Given the description of an element on the screen output the (x, y) to click on. 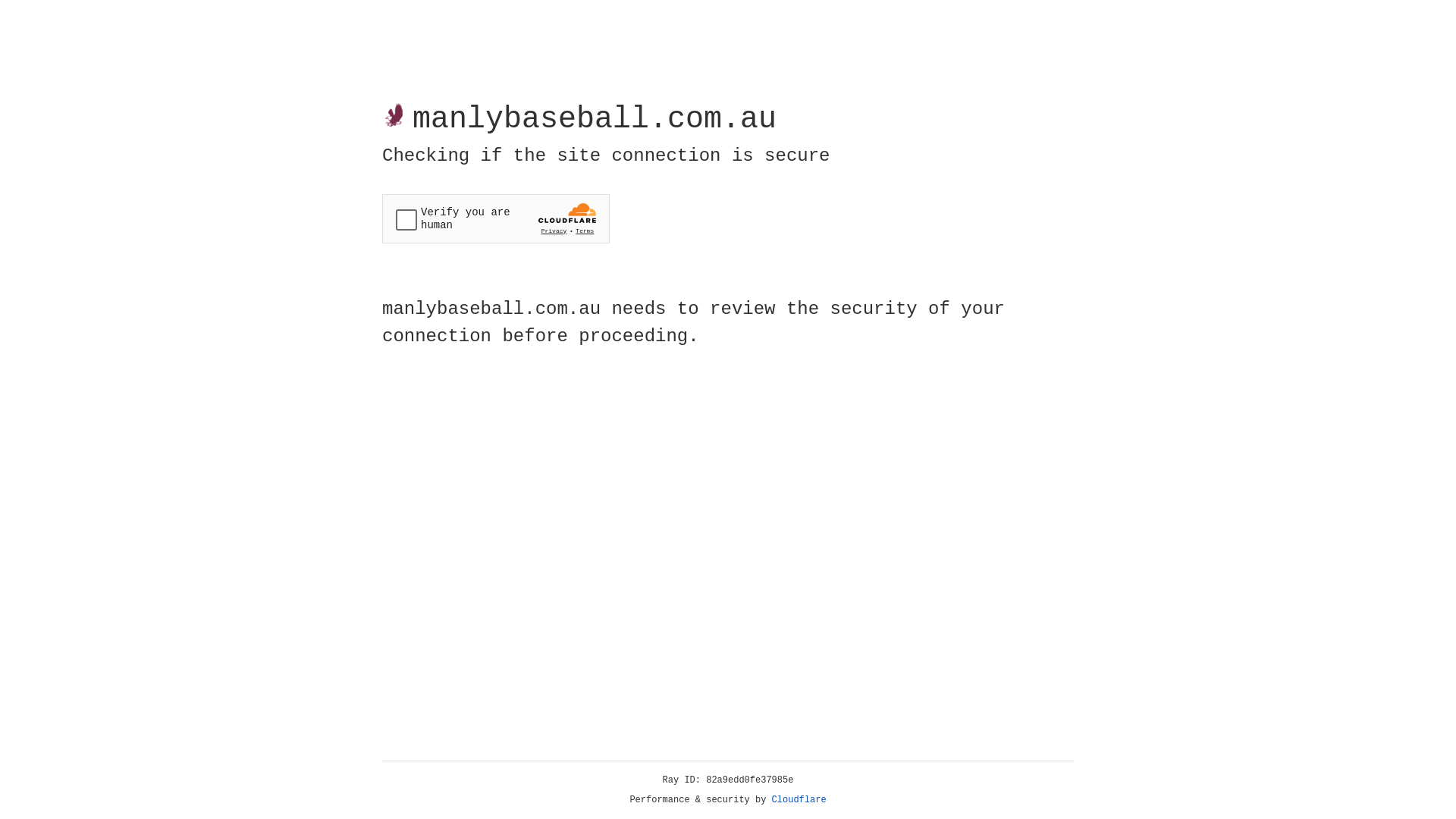
Cloudflare Element type: text (798, 799)
Widget containing a Cloudflare security challenge Element type: hover (495, 218)
